Given the description of an element on the screen output the (x, y) to click on. 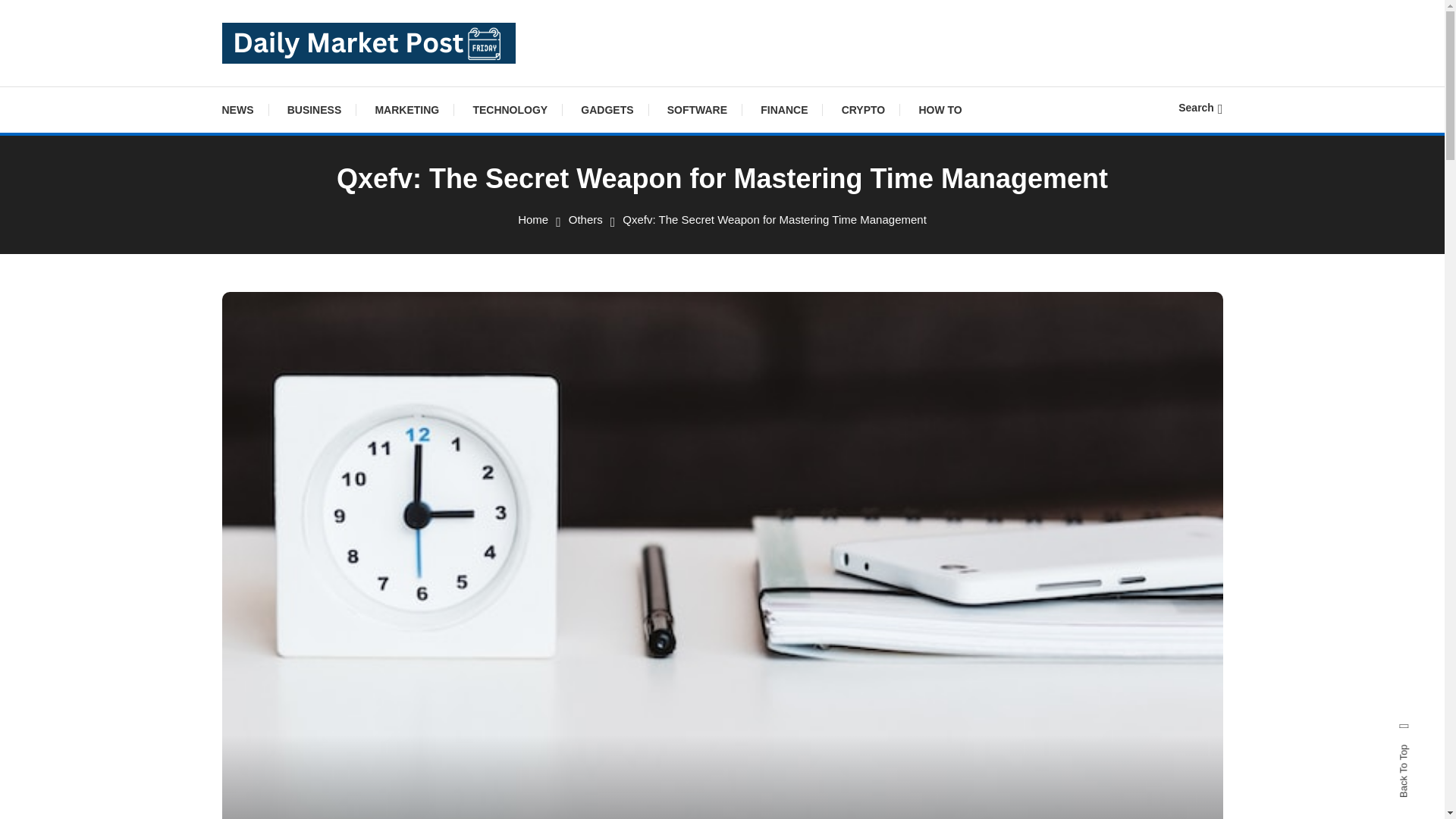
SOFTWARE (697, 109)
TECHNOLOGY (509, 109)
CRYPTO (864, 109)
Home (533, 219)
BUSINESS (314, 109)
Daily Market Post (334, 83)
NEWS (244, 109)
FINANCE (783, 109)
GADGETS (606, 109)
HOW TO (939, 109)
Others (585, 219)
Search (768, 434)
MARKETING (406, 109)
Search (1200, 107)
